Given the description of an element on the screen output the (x, y) to click on. 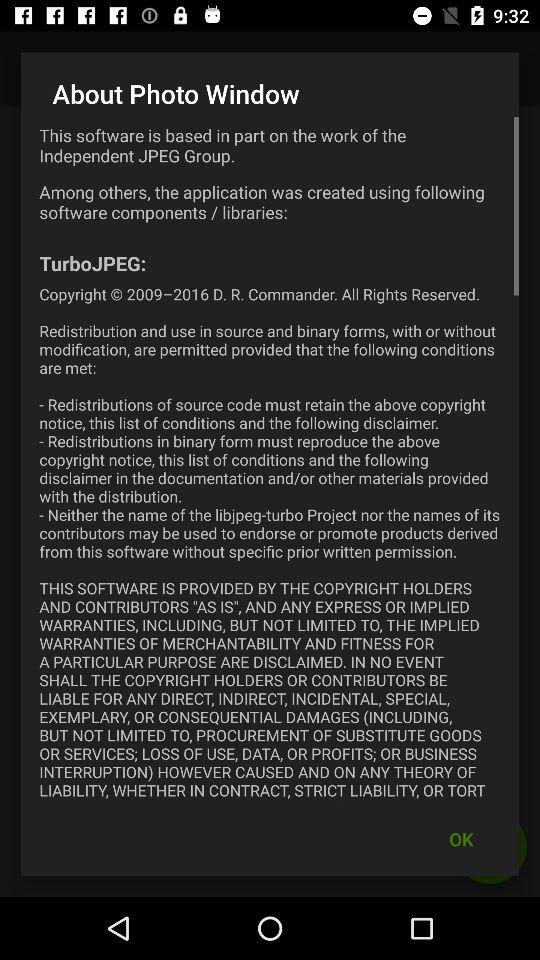
flip until the ok icon (461, 838)
